Given the description of an element on the screen output the (x, y) to click on. 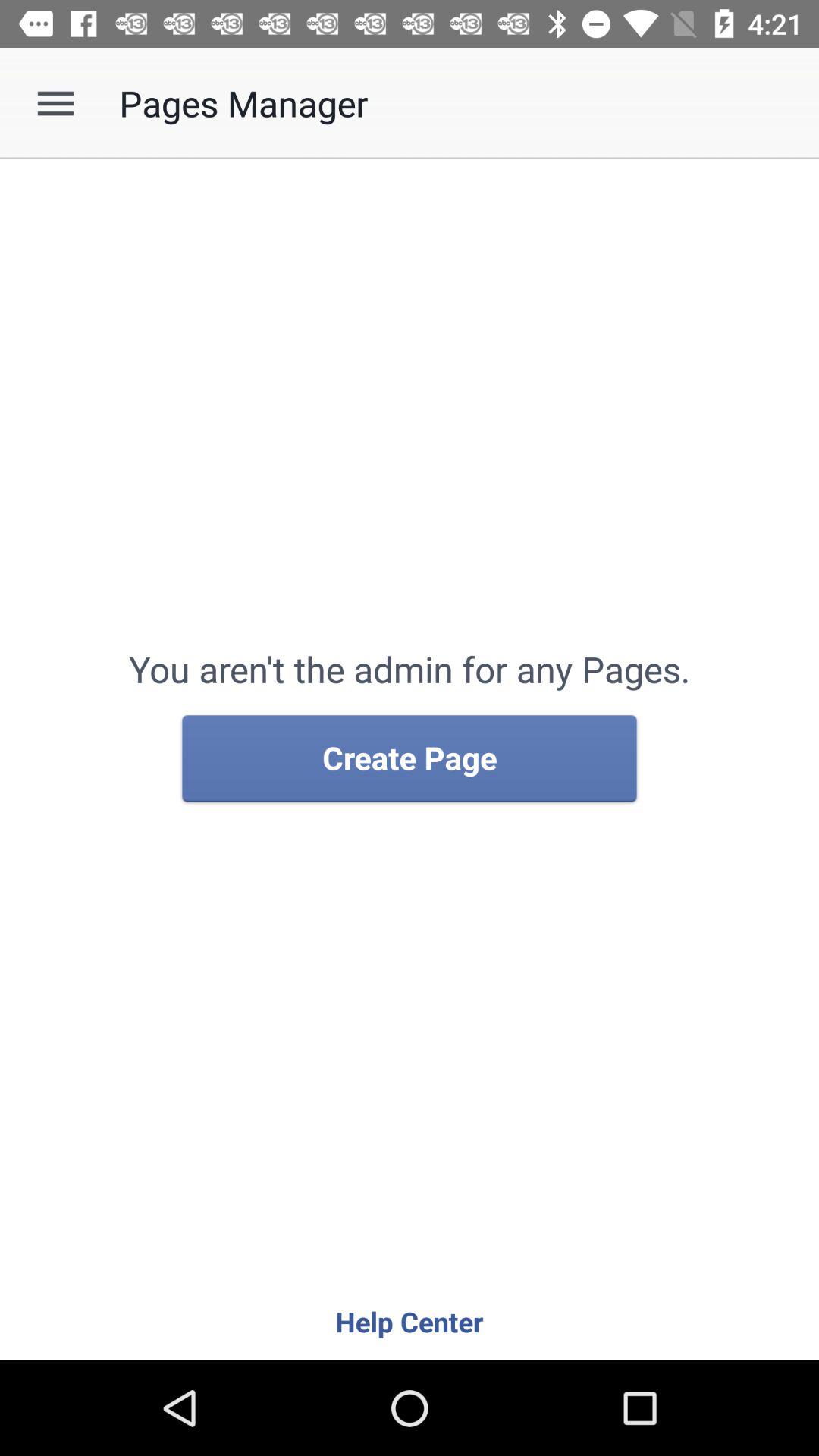
launch item below create page (409, 1321)
